Given the description of an element on the screen output the (x, y) to click on. 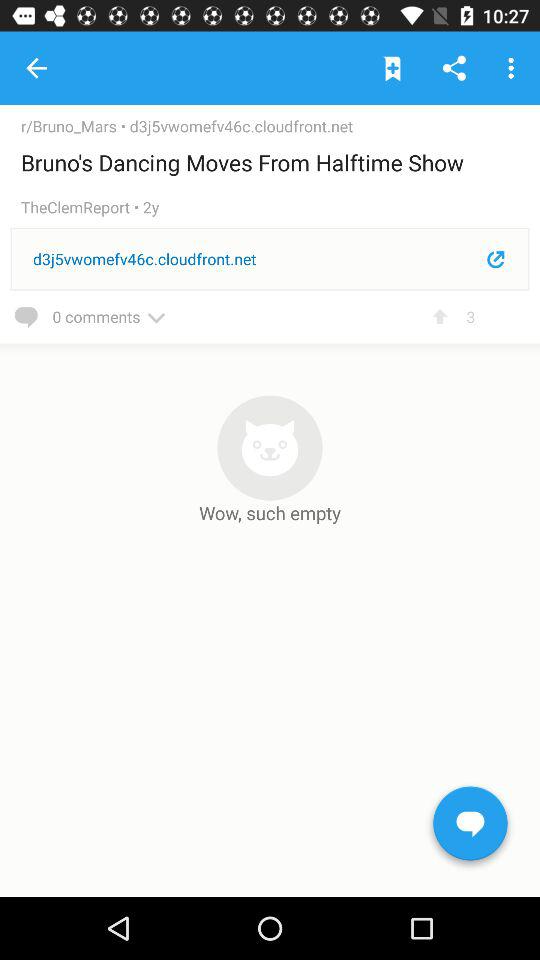
tap item above the d3j5vwomefv46c.cloudfront.net item (81, 207)
